Given the description of an element on the screen output the (x, y) to click on. 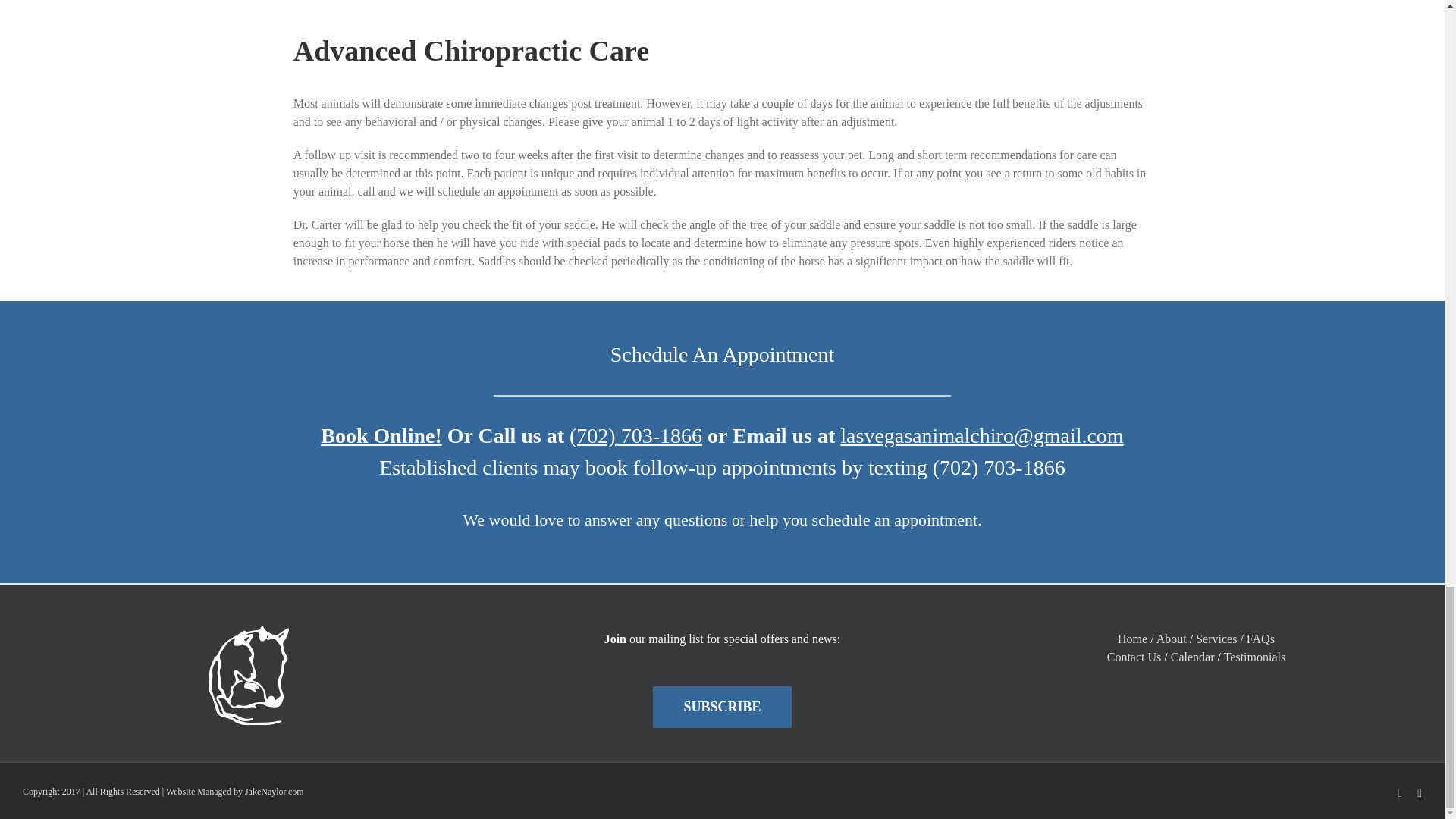
Contact Us (1133, 656)
Book Online! (380, 435)
About (1171, 638)
Services (1215, 638)
Calendar (1192, 656)
SUBSCRIBE (721, 707)
Join our mailing list for special offers and news. (721, 707)
FAQs (1260, 638)
Home (1132, 638)
Testimonials (1254, 656)
